Given the description of an element on the screen output the (x, y) to click on. 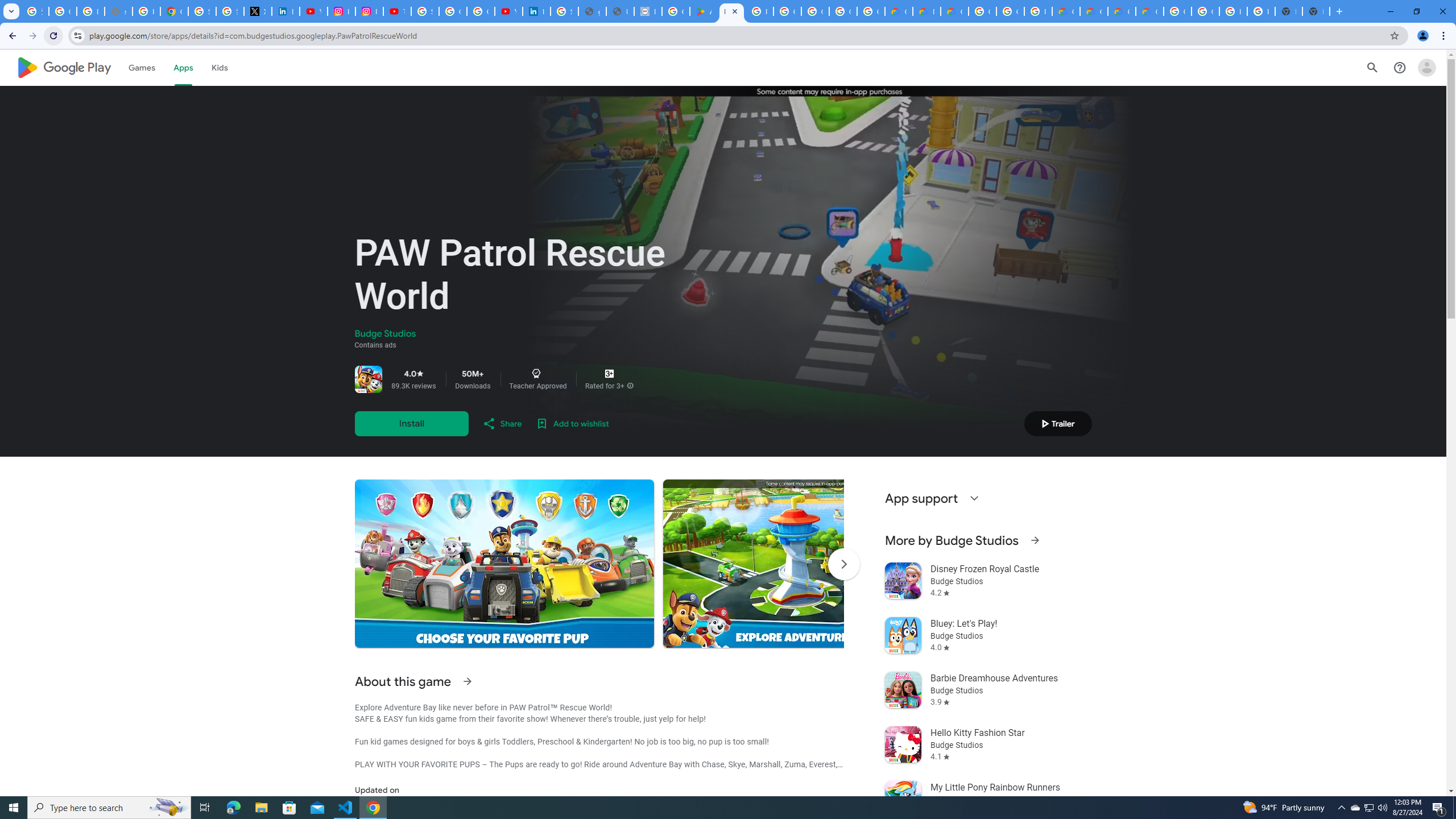
Identity verification via Persona | LinkedIn Help (536, 11)
YouTube Content Monetization Policies - How YouTube Works (313, 11)
Sign in - Google Accounts (202, 11)
X (257, 11)
Customer Care | Google Cloud (1065, 11)
Install (410, 423)
Content rating (609, 373)
Add to wishlist (571, 422)
PAW Patrol Rescue World - Apps on Google Play (731, 11)
Address and search bar (735, 35)
